Given the description of an element on the screen output the (x, y) to click on. 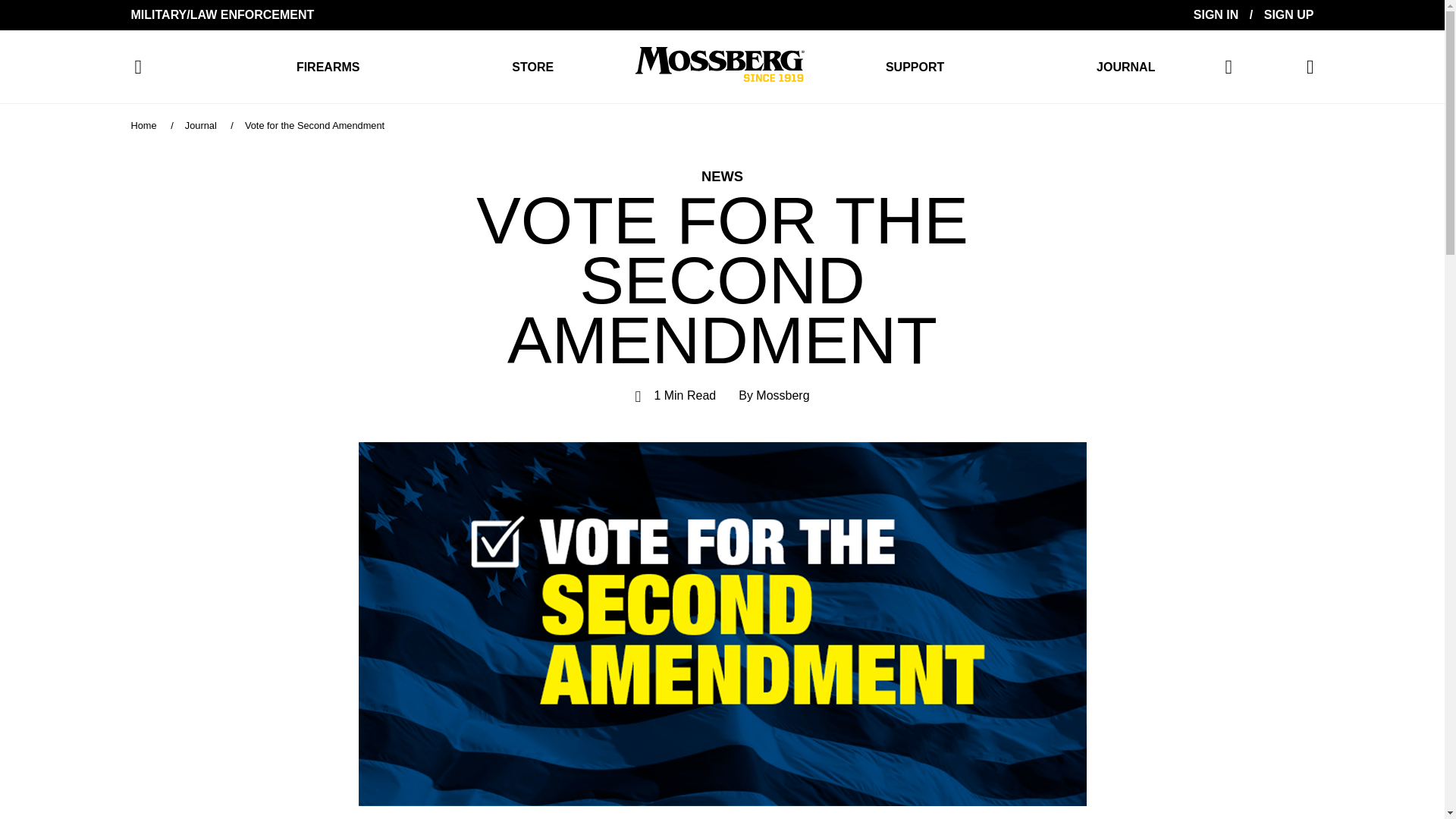
NEWS (722, 176)
SUPPORT (914, 66)
FIREARMS (328, 66)
SIGN UP (1288, 14)
JOURNAL (1125, 66)
Journal (200, 125)
SIGN IN (1216, 14)
Home (143, 125)
Mossberg (719, 66)
STORE (532, 66)
Mossberg (782, 395)
